Given the description of an element on the screen output the (x, y) to click on. 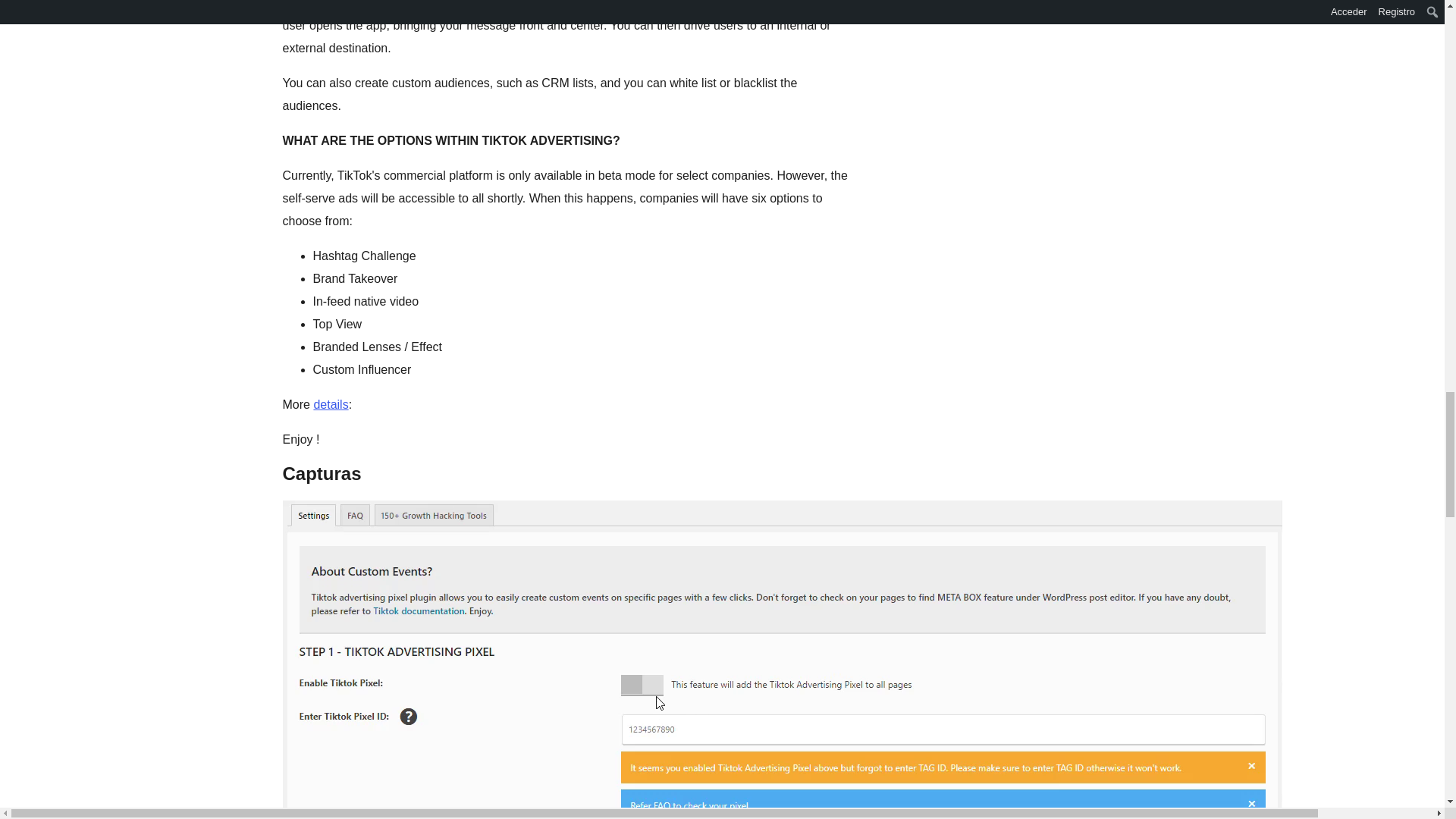
details (330, 404)
